Given the description of an element on the screen output the (x, y) to click on. 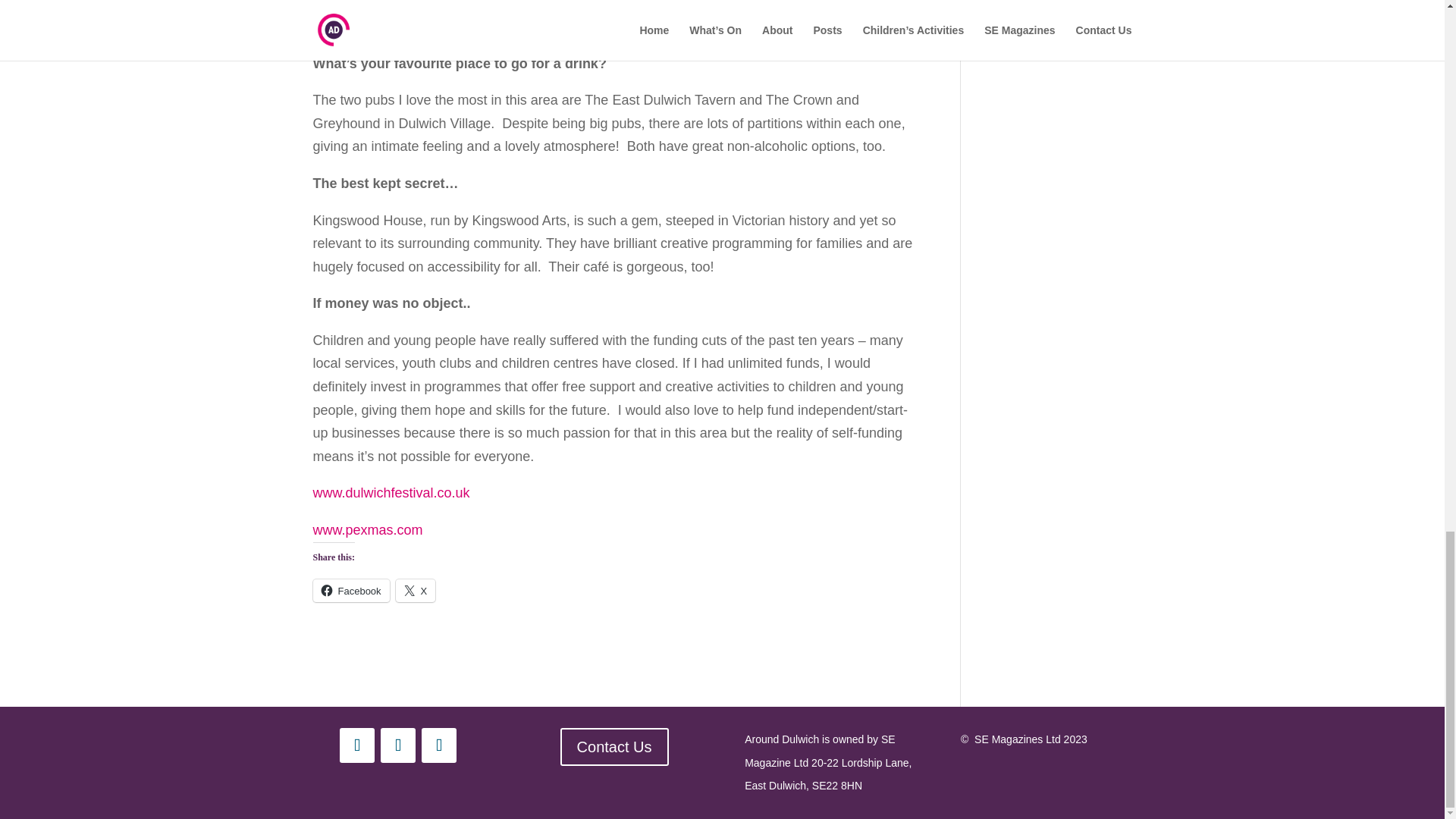
www.pexmas.com (367, 529)
Facebook (350, 590)
Contact Us (614, 746)
Follow on Facebook (397, 745)
X (415, 590)
Follow on X (439, 745)
www.dulwichfestival.co.uk (390, 492)
Follow on Instagram (356, 745)
Click to share on Facebook (350, 590)
Click to share on X (415, 590)
